Given the description of an element on the screen output the (x, y) to click on. 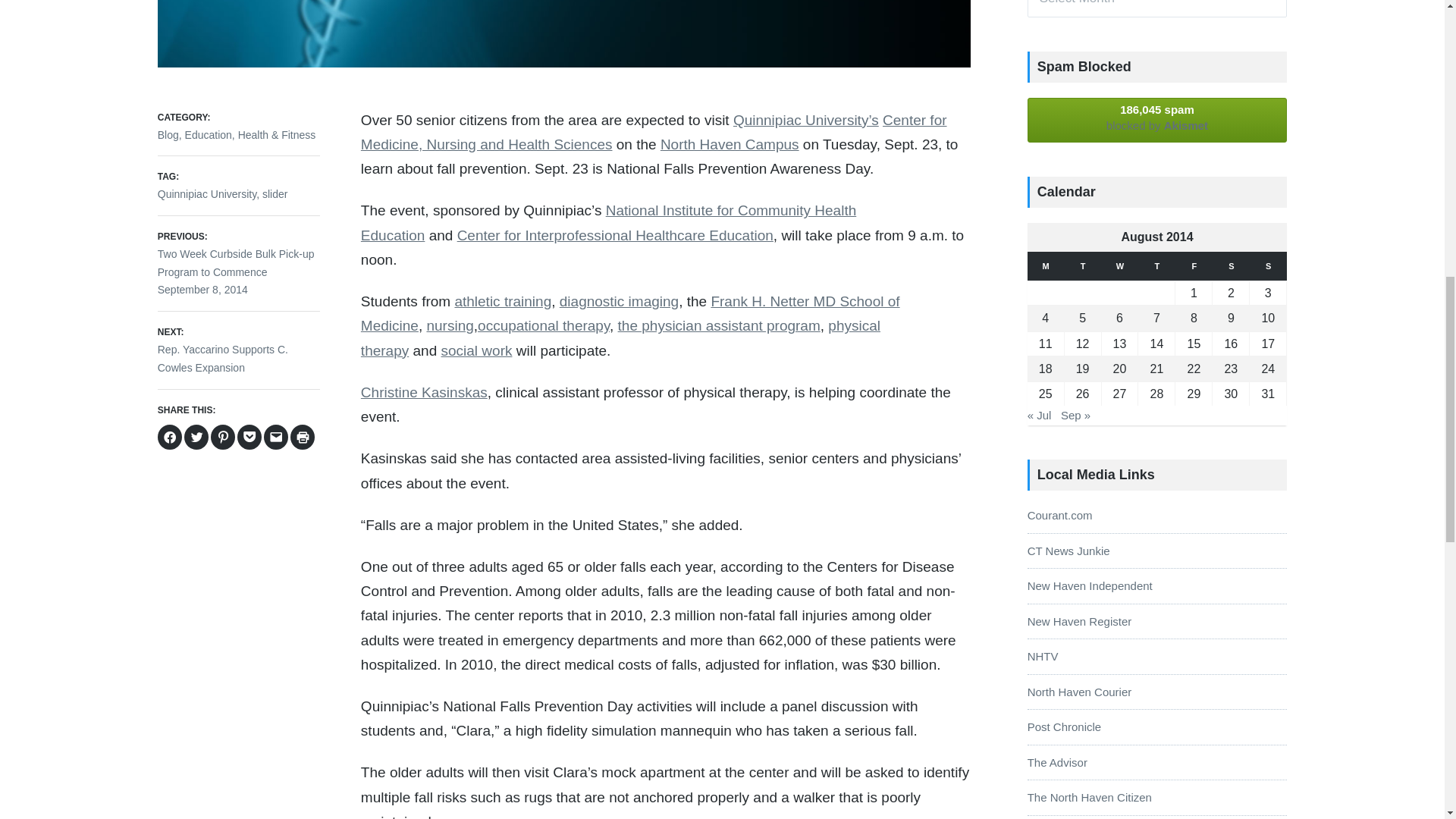
Center for Medicine, Nursing and Health Sciences (654, 132)
physical therapy (620, 337)
Tuesday (1083, 266)
Christine Kasinskas (424, 392)
social work (476, 350)
National Institute for Community Health Education (608, 222)
Click to share on Pinterest (222, 437)
Blog (168, 134)
Click to share on Twitter (238, 349)
